Given the description of an element on the screen output the (x, y) to click on. 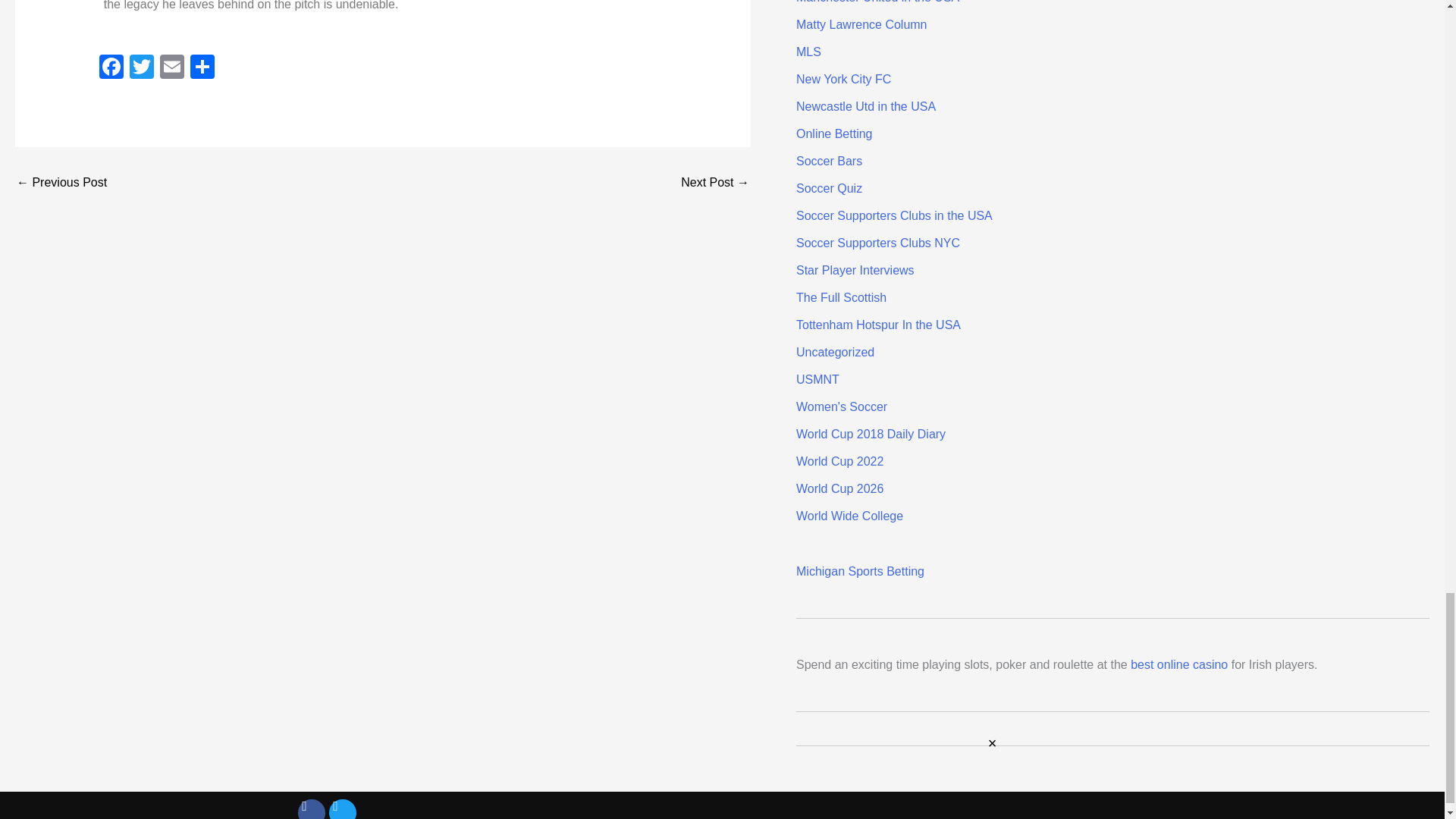
Facebook (111, 68)
Email (172, 68)
Twitter (141, 68)
Twitter (141, 68)
Facebook (111, 68)
Health Benefits of Wooden Standing Desks (61, 182)
Email (172, 68)
Share (201, 68)
PayID - Payment method for online gambling (715, 182)
